Given the description of an element on the screen output the (x, y) to click on. 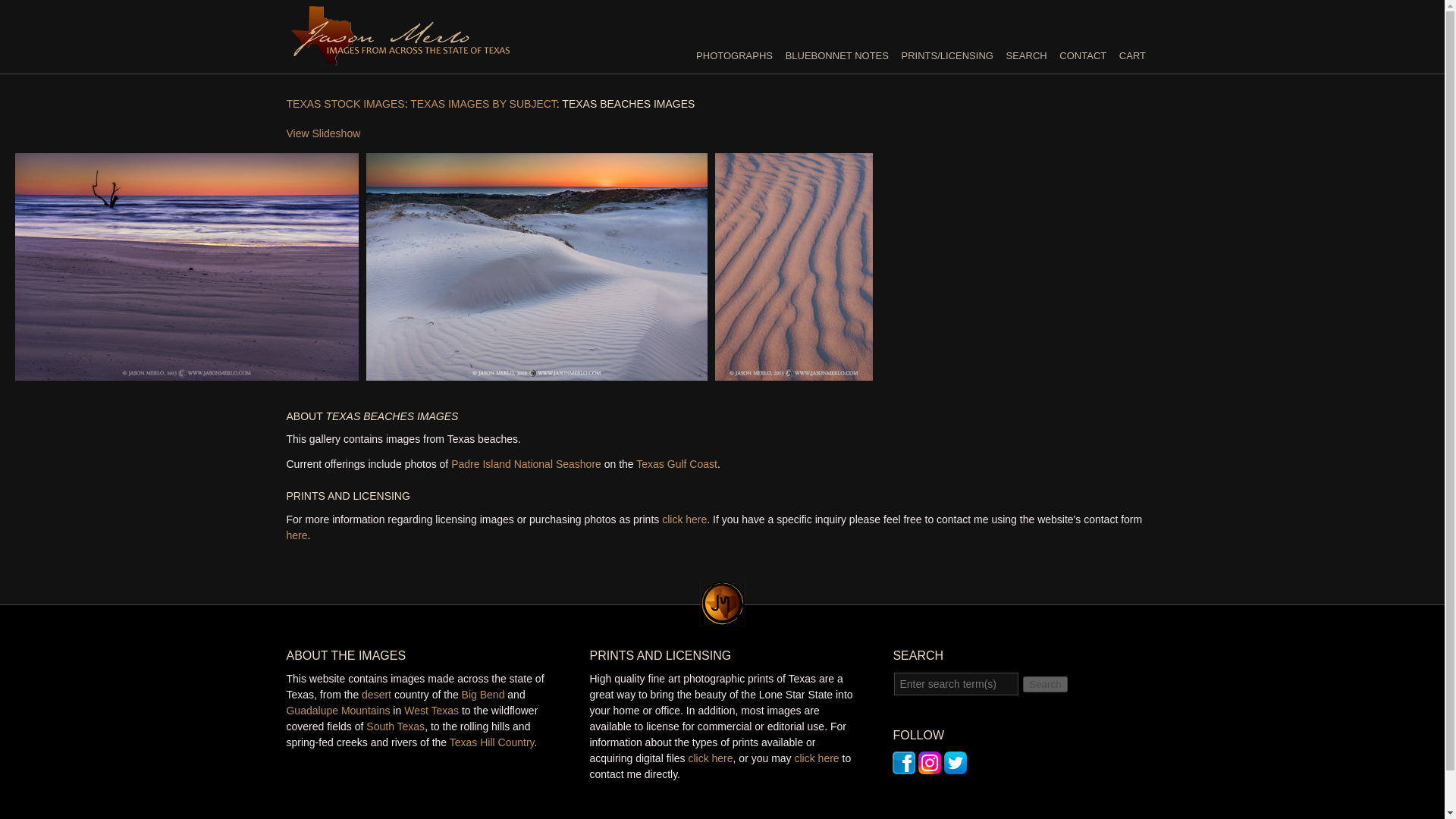
Big Bend (483, 694)
Follow on Facebook (903, 766)
TEXAS STOCK IMAGES (345, 103)
SEARCH (1026, 55)
here (296, 535)
Follow on Twitter (954, 766)
TEXAS IMAGES BY SUBJECT (483, 103)
Jason Merlo Photography (399, 59)
Guadalupe Mountains (337, 710)
Padre Island National Seashore (526, 463)
